Given the description of an element on the screen output the (x, y) to click on. 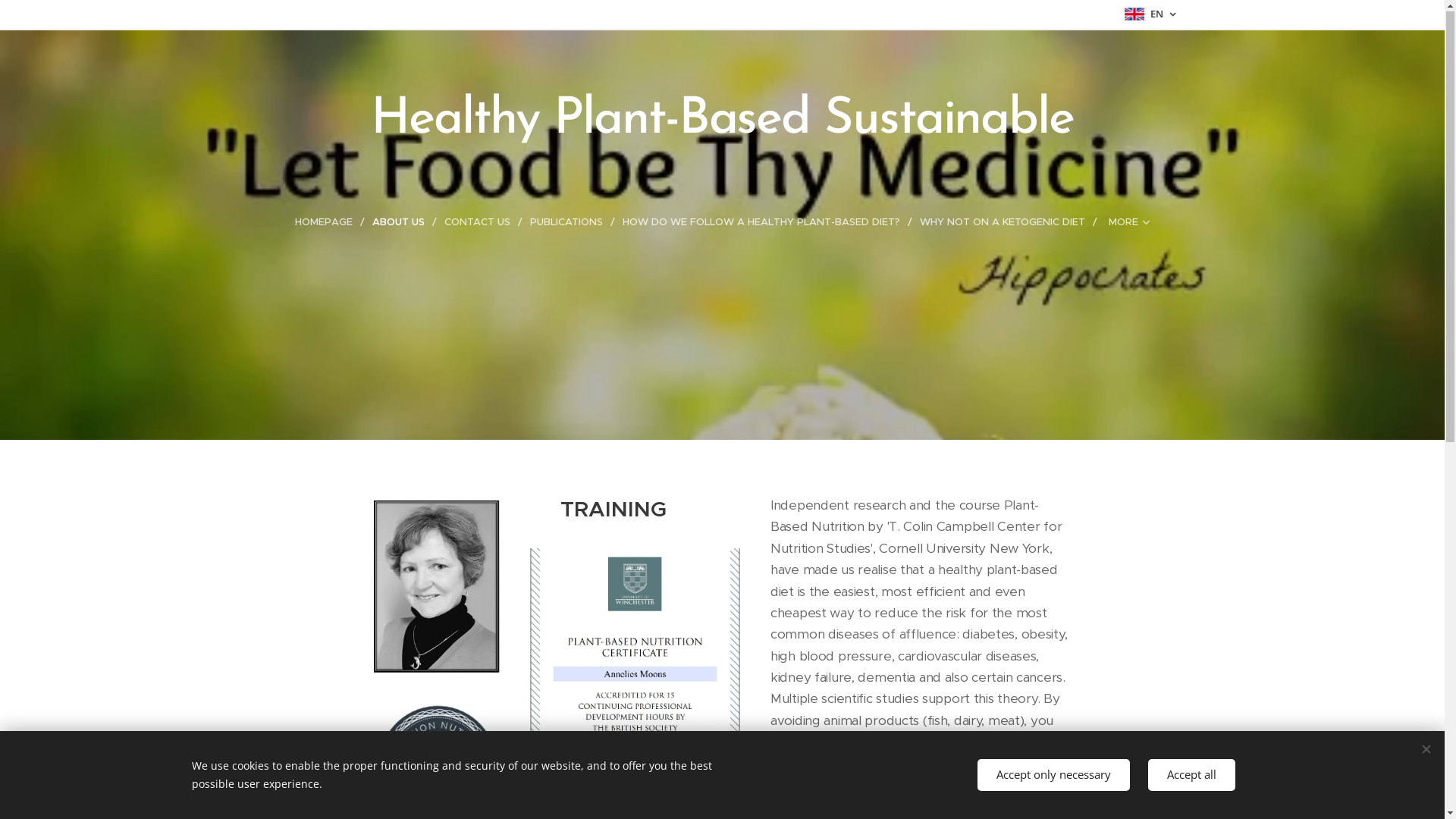
Healthy Plant-Based Sustainable Element type: text (721, 116)
ABOUT US Element type: text (400, 222)
WHY NOT ON A KETOGENIC DIET Element type: text (1004, 222)
Accept only necessary Element type: text (1052, 774)
HOW DO WE FOLLOW A HEALTHY PLANT-BASED DIET? Element type: text (763, 222)
MORE Element type: text (1125, 222)
CONTACT US Element type: text (479, 222)
PUBLICATIONS Element type: text (568, 222)
HOMEPAGE Element type: text (329, 222)
Accept all Element type: text (1191, 774)
